Given the description of an element on the screen output the (x, y) to click on. 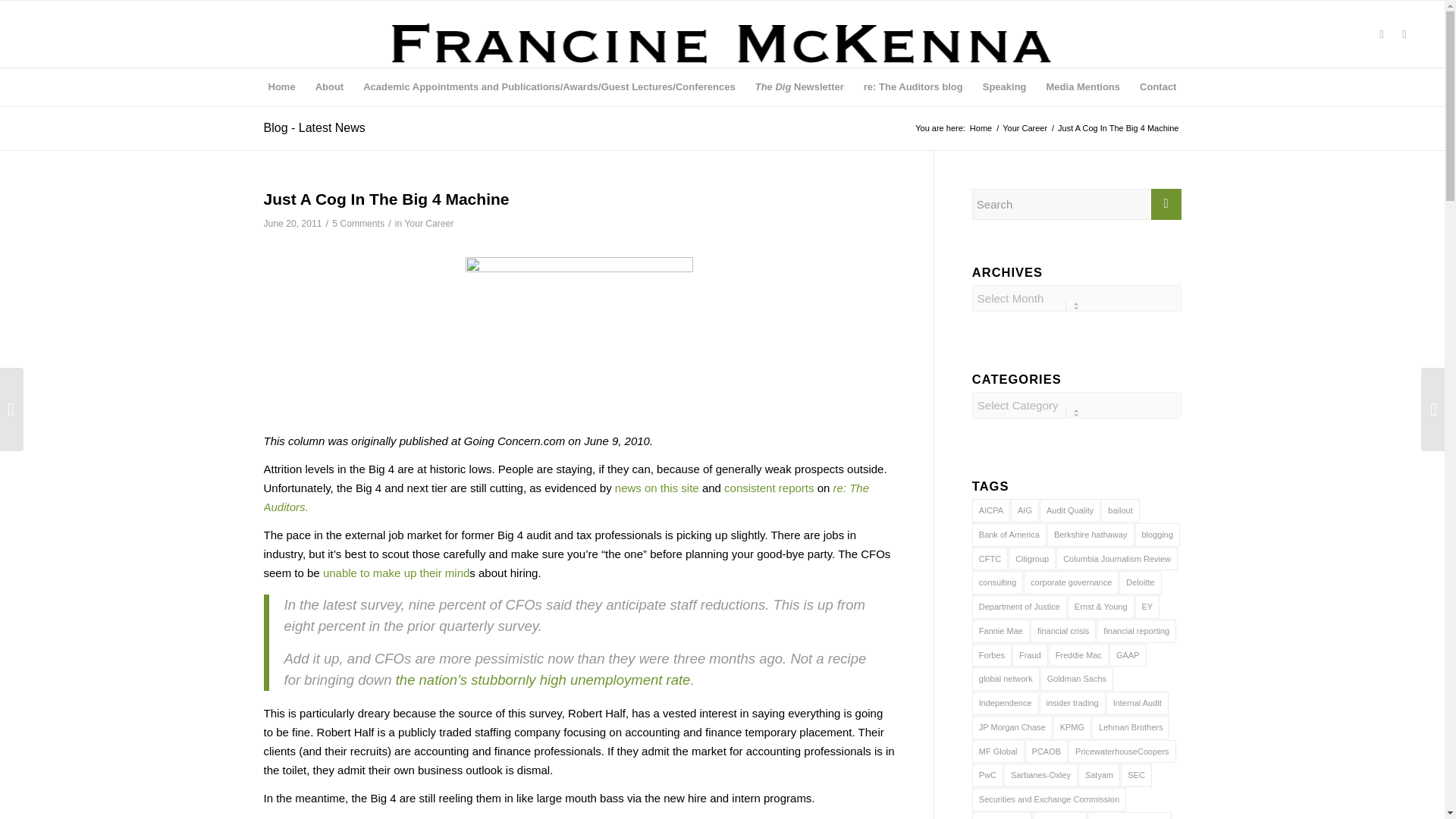
re: The Auditors. (566, 497)
Home (981, 128)
news on this site (656, 487)
Your Career (428, 223)
unable to make up their mind (395, 572)
Rss (1404, 33)
Speaking (1004, 86)
Francine McKenna (981, 128)
About (329, 86)
Media Mentions (1083, 86)
Home (282, 86)
The Dig Newsletter (799, 86)
Picture 7 (579, 337)
Blog - Latest News (314, 127)
Contact (1157, 86)
